Given the description of an element on the screen output the (x, y) to click on. 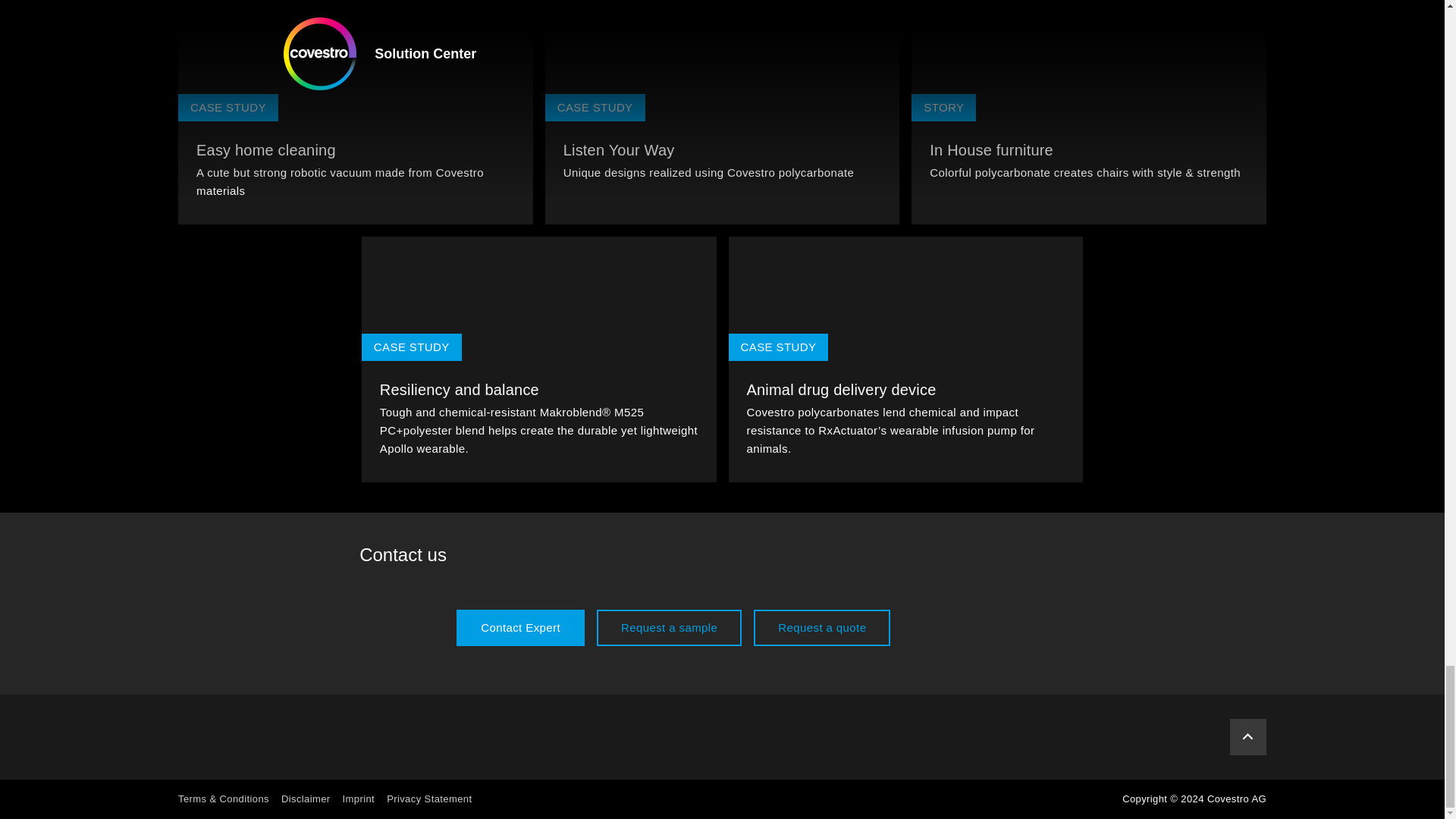
Imprint (358, 798)
Disclaimer (305, 798)
Privacy Statement (429, 798)
